Given the description of an element on the screen output the (x, y) to click on. 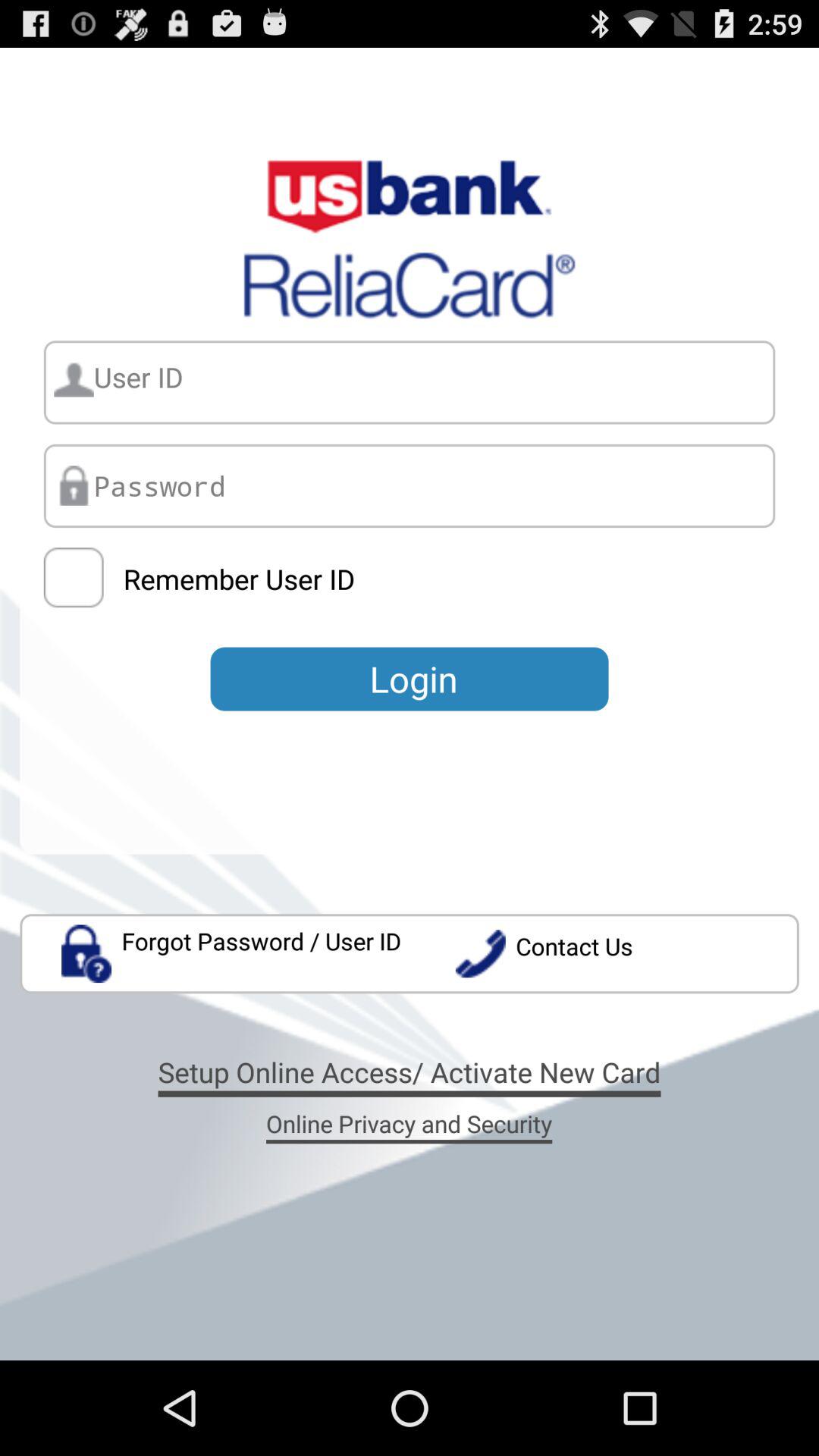
turn off the item below the login (626, 953)
